Given the description of an element on the screen output the (x, y) to click on. 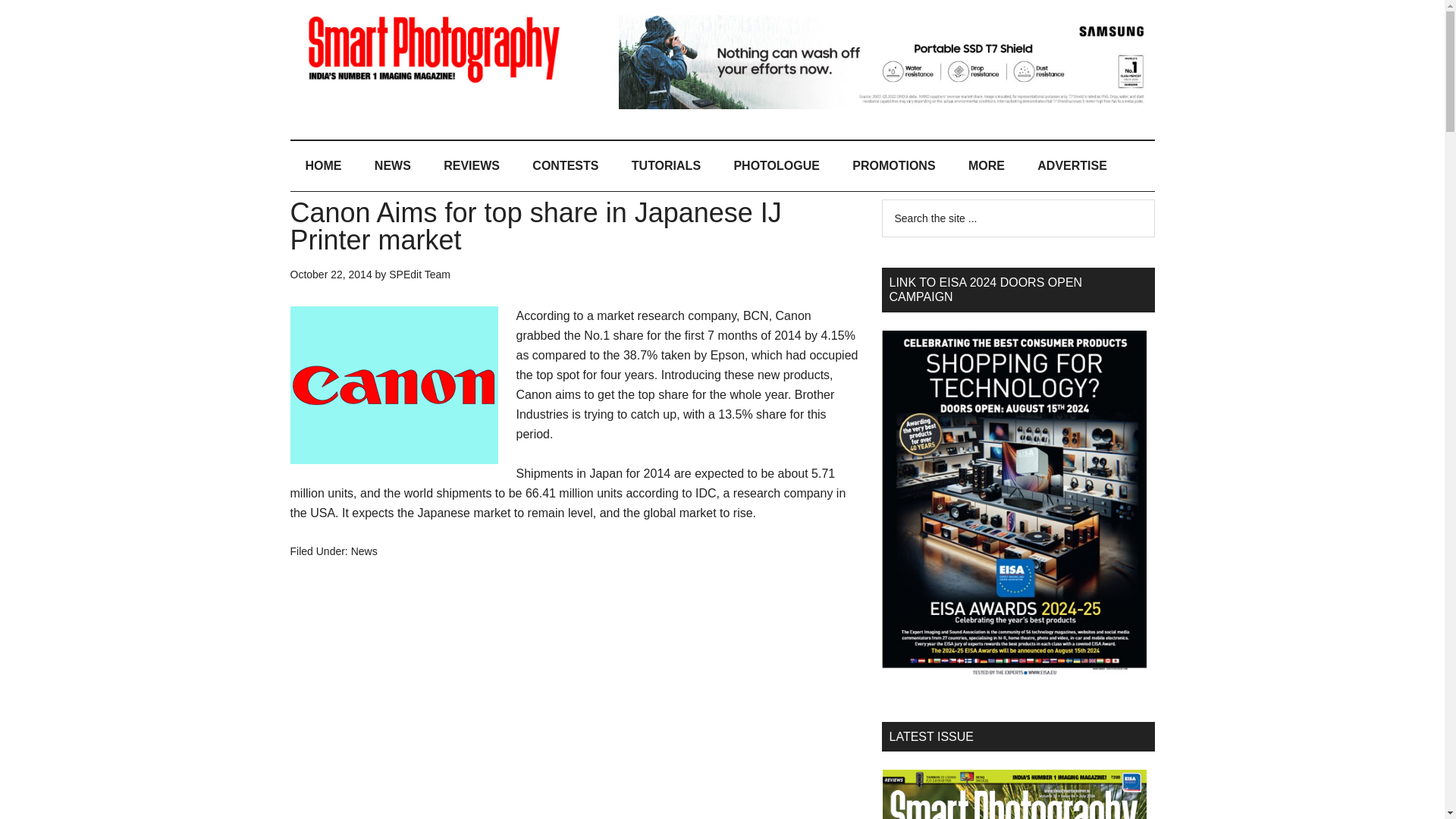
NEWS (392, 165)
TUTORIALS (665, 165)
News (363, 551)
CONTESTS (564, 165)
HOME (322, 165)
PROMOTIONS (893, 165)
MORE (986, 165)
PHOTOLOGUE (775, 165)
SPEdit Team (418, 274)
